Given the description of an element on the screen output the (x, y) to click on. 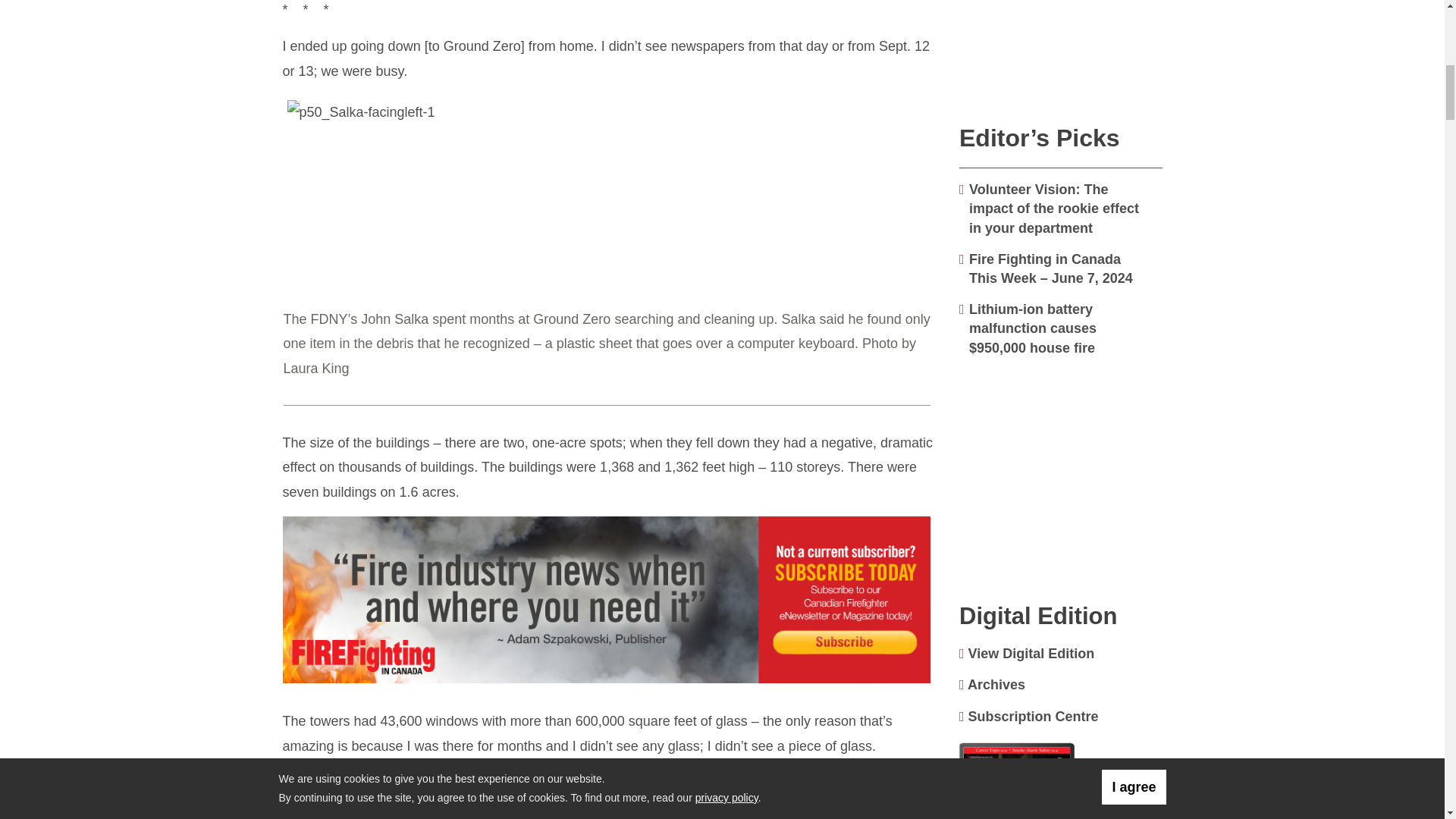
3rd party ad content (609, 601)
3rd party ad content (1060, 54)
3rd party ad content (1060, 497)
